Given the description of an element on the screen output the (x, y) to click on. 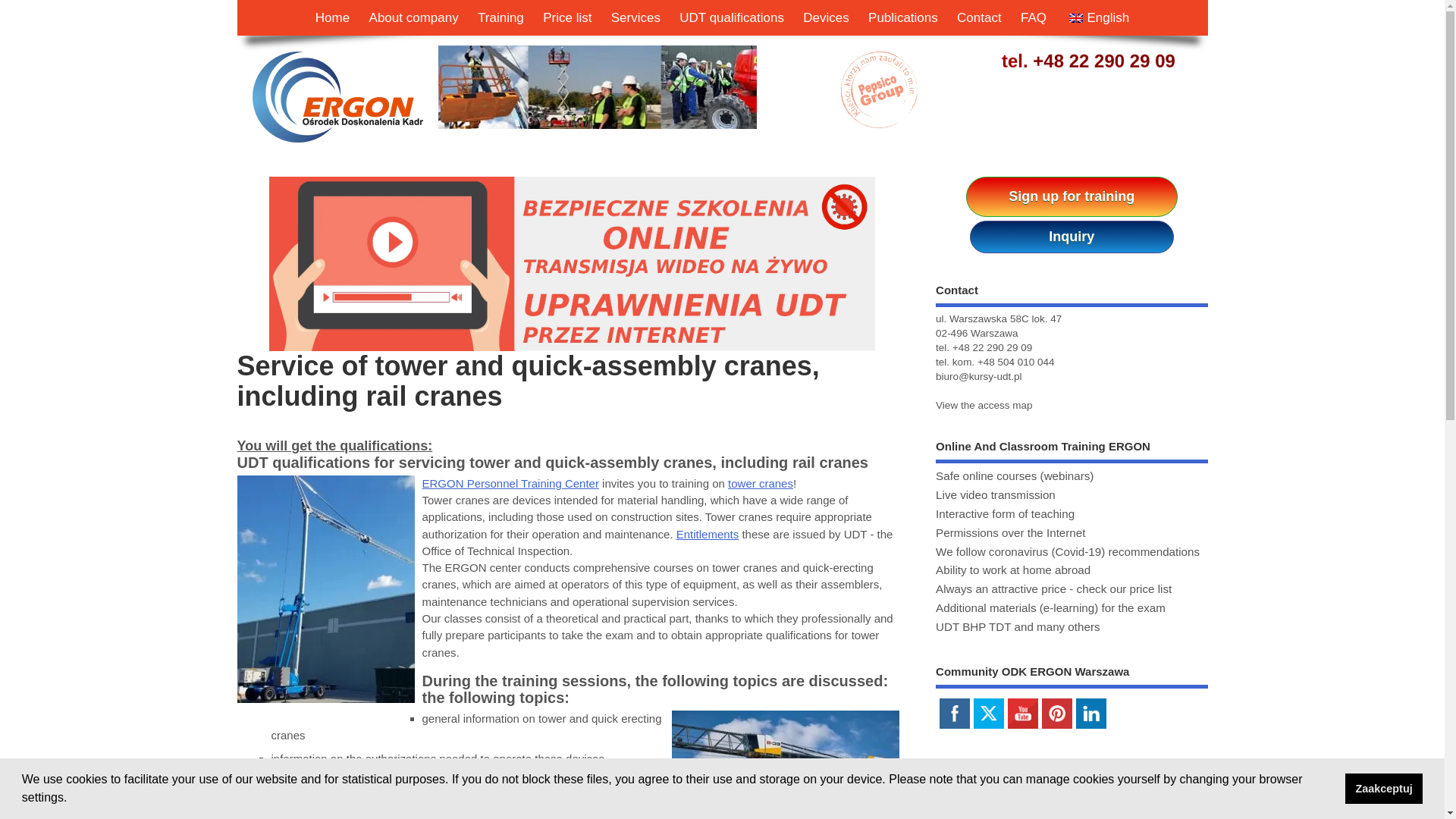
Training (500, 18)
About company (414, 18)
Home (332, 18)
FACEBOOK (954, 713)
